Given the description of an element on the screen output the (x, y) to click on. 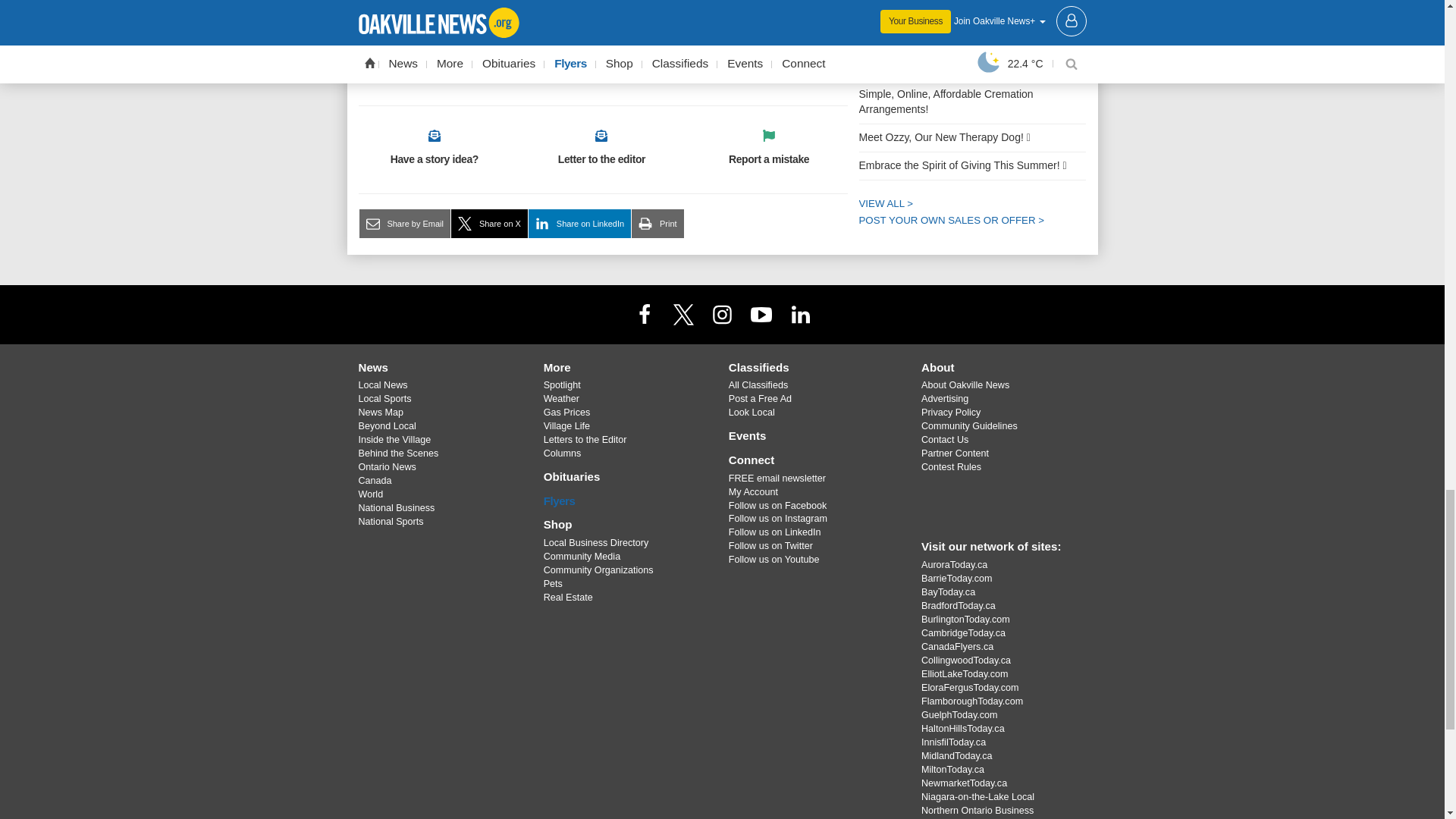
Instagram (721, 313)
LinkedIn (800, 313)
X (683, 313)
YouTube (760, 313)
Facebook (644, 313)
